Given the description of an element on the screen output the (x, y) to click on. 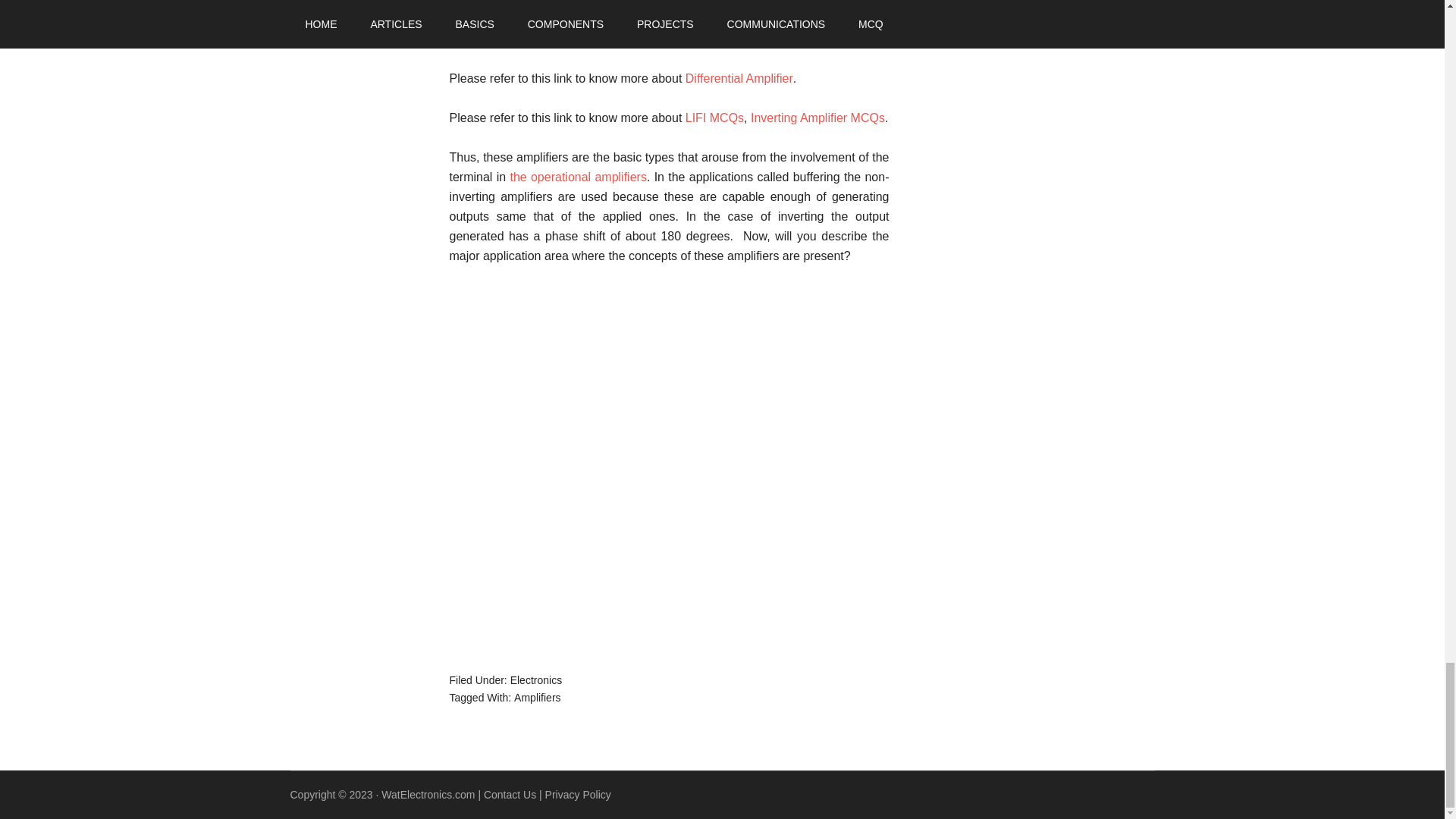
Amplifiers (536, 697)
Privacy Policy (577, 794)
the operational amplifiers (577, 176)
Contact Us (509, 794)
Electronics (536, 680)
Differential Amplifier (739, 78)
LIFI MCQs (714, 117)
Inverting Amplifier MCQs (818, 117)
